Given the description of an element on the screen output the (x, y) to click on. 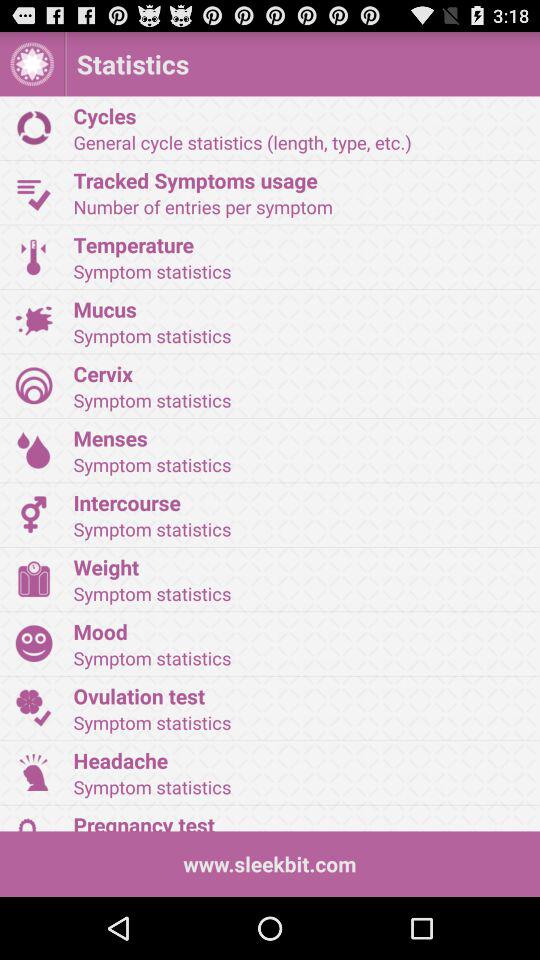
scroll to the intercourse icon (299, 502)
